Given the description of an element on the screen output the (x, y) to click on. 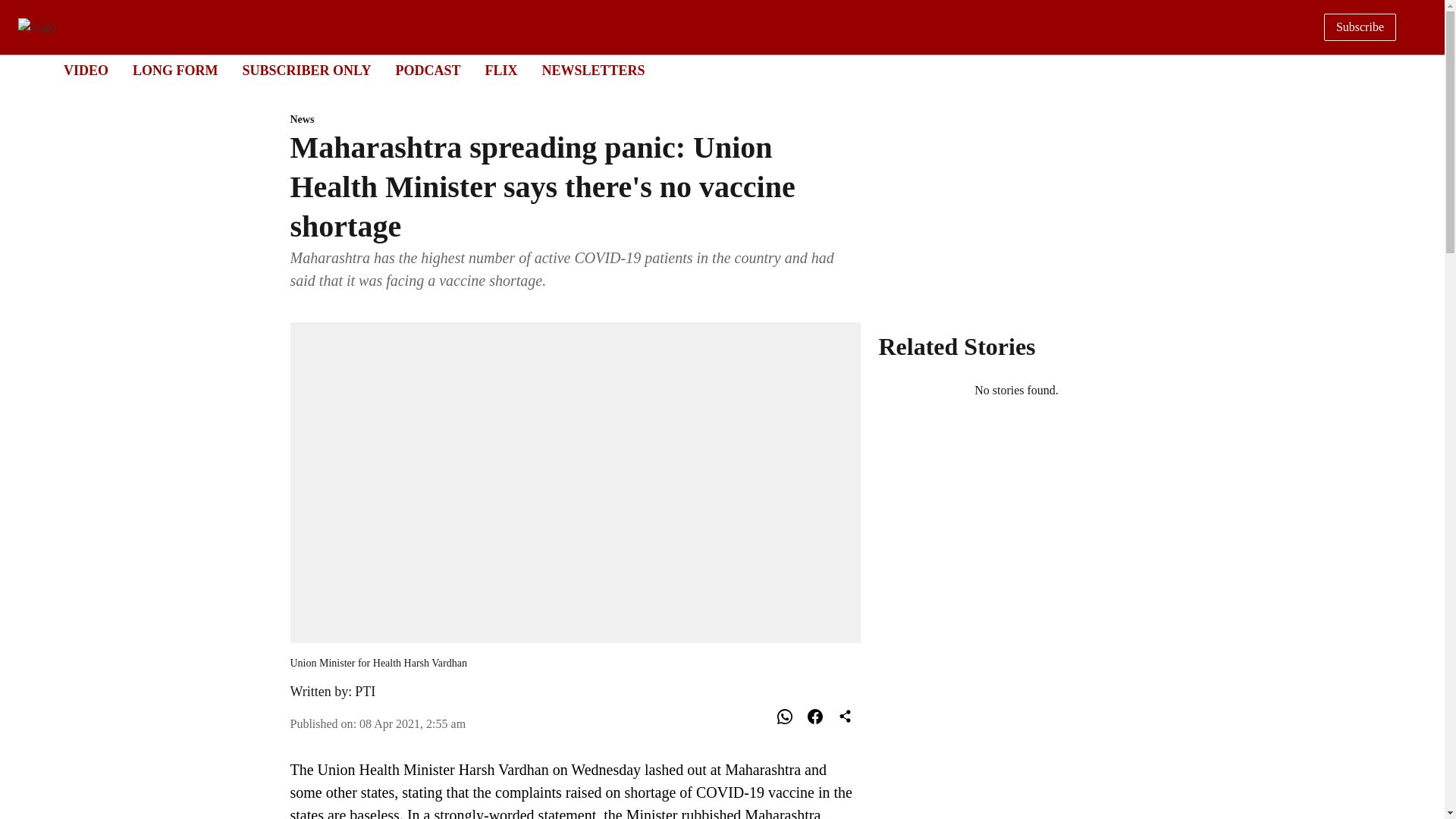
SUBSCRIBER ONLY (307, 70)
PTI (365, 691)
News (574, 119)
NEWSLETTERS (707, 70)
LONG FORM (593, 70)
2021-04-08 02:55 (175, 70)
FLIX (412, 723)
PODCAST (500, 70)
VIDEO (427, 70)
